Given the description of an element on the screen output the (x, y) to click on. 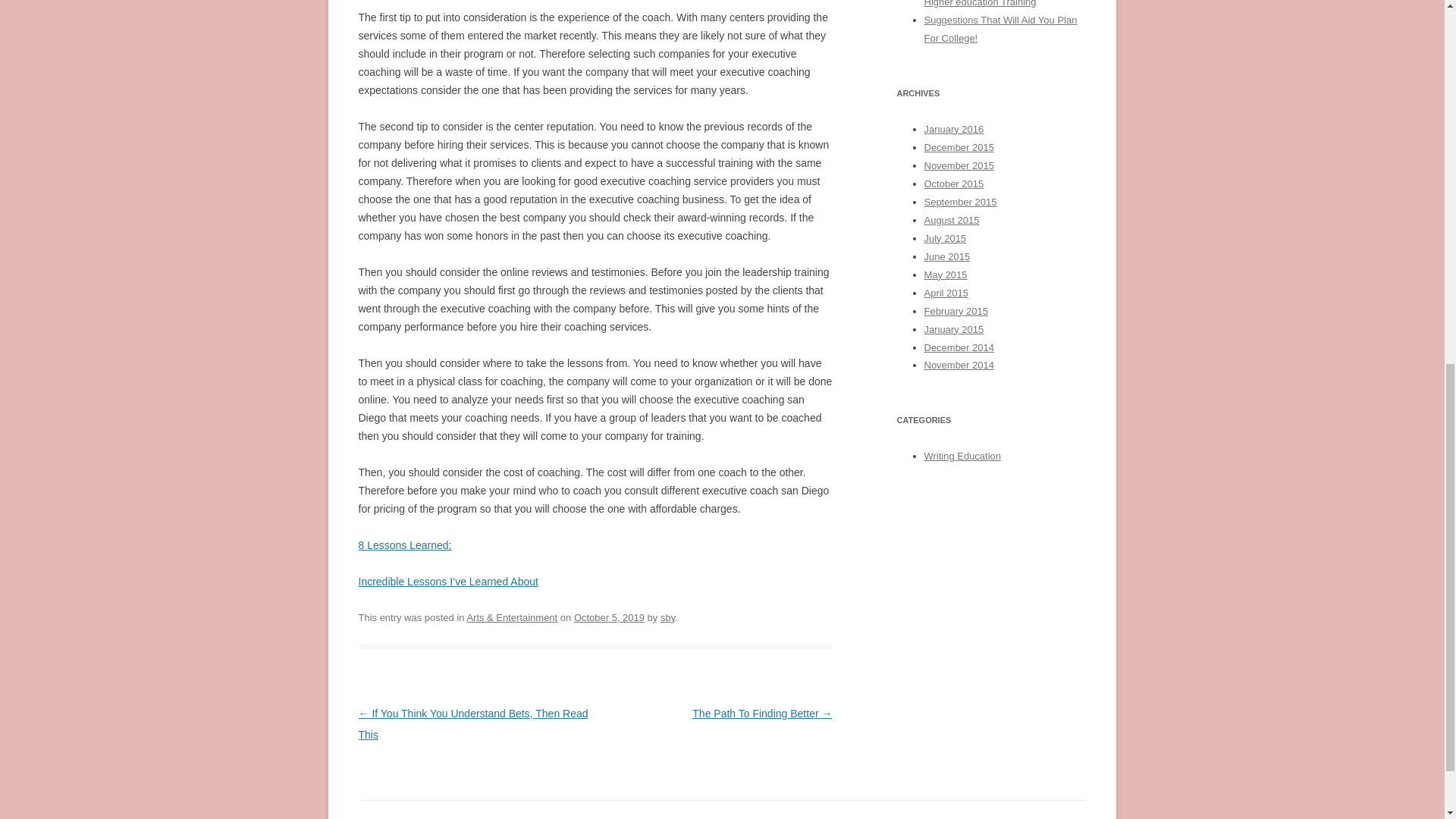
November 2015 (957, 165)
7:36 pm (609, 617)
8 Lessons Learned: (404, 544)
May 2015 (944, 274)
April 2015 (945, 292)
Writing Education (962, 455)
June 2015 (946, 256)
August 2015 (950, 220)
November 2014 (957, 365)
Factors You Should Know About Higher education Training (993, 3)
